Given the description of an element on the screen output the (x, y) to click on. 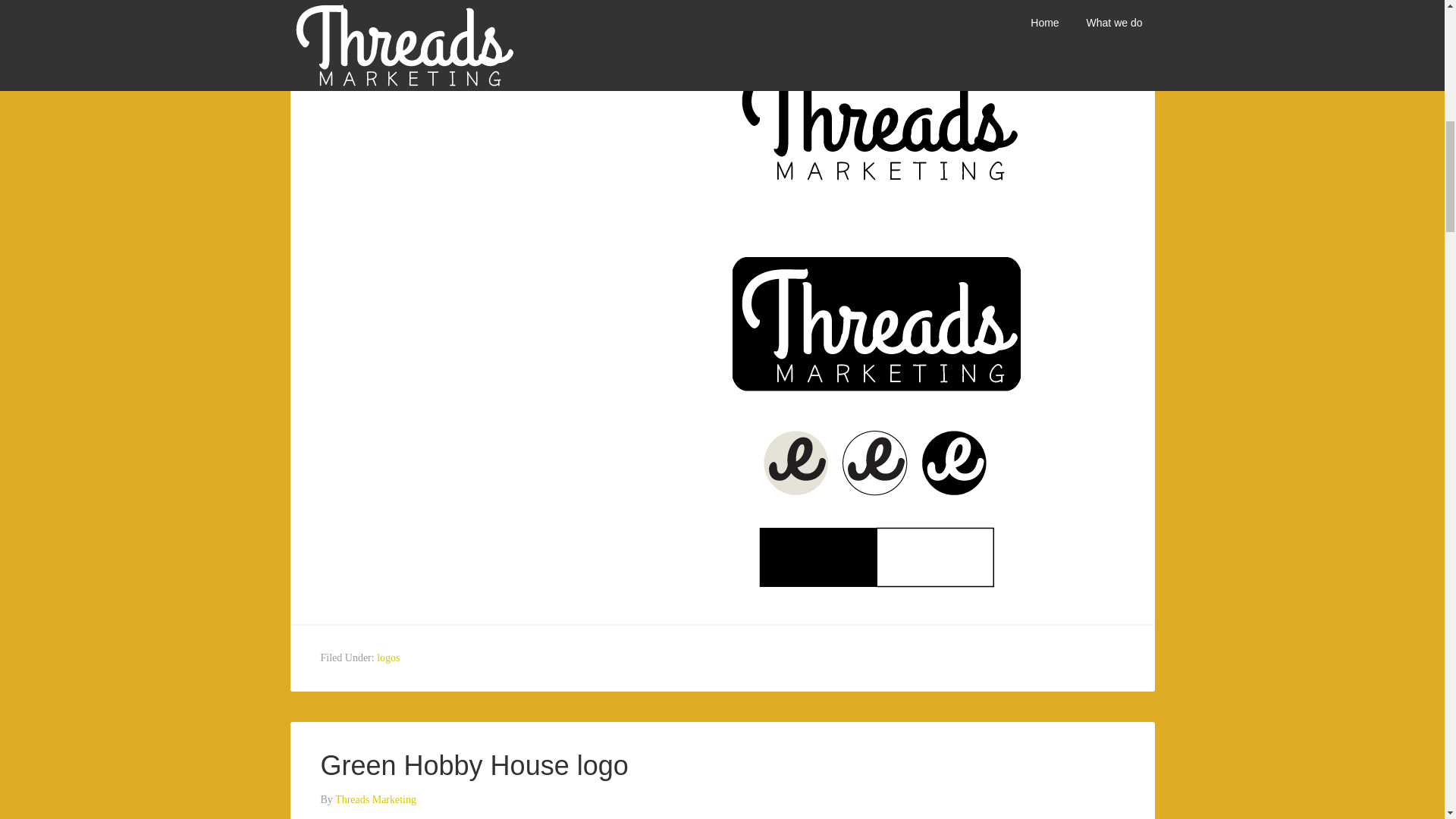
Threads Marketing (375, 17)
Green Hobby House logo (473, 765)
logos (387, 657)
Threads Marketing (375, 799)
